Given the description of an element on the screen output the (x, y) to click on. 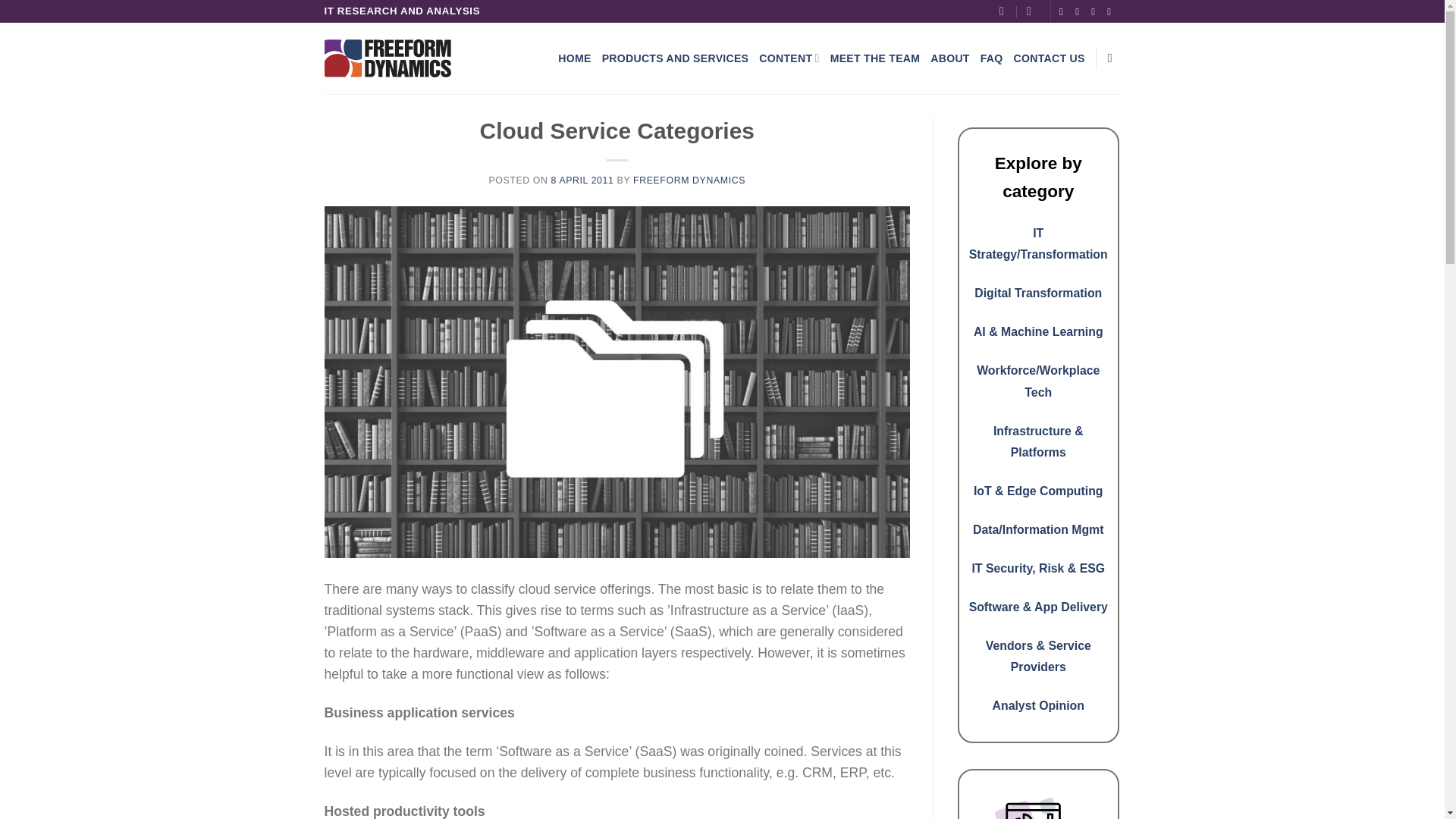
HOME (574, 58)
Freeform Dynamics - IT Research and Analysis (387, 57)
CONTACT US (1048, 58)
8 APRIL 2011 (582, 180)
CONTENT (788, 57)
PRODUCTS AND SERVICES (675, 58)
FREEFORM DYNAMICS (689, 180)
MEET THE TEAM (874, 58)
ABOUT (949, 58)
